Given the description of an element on the screen output the (x, y) to click on. 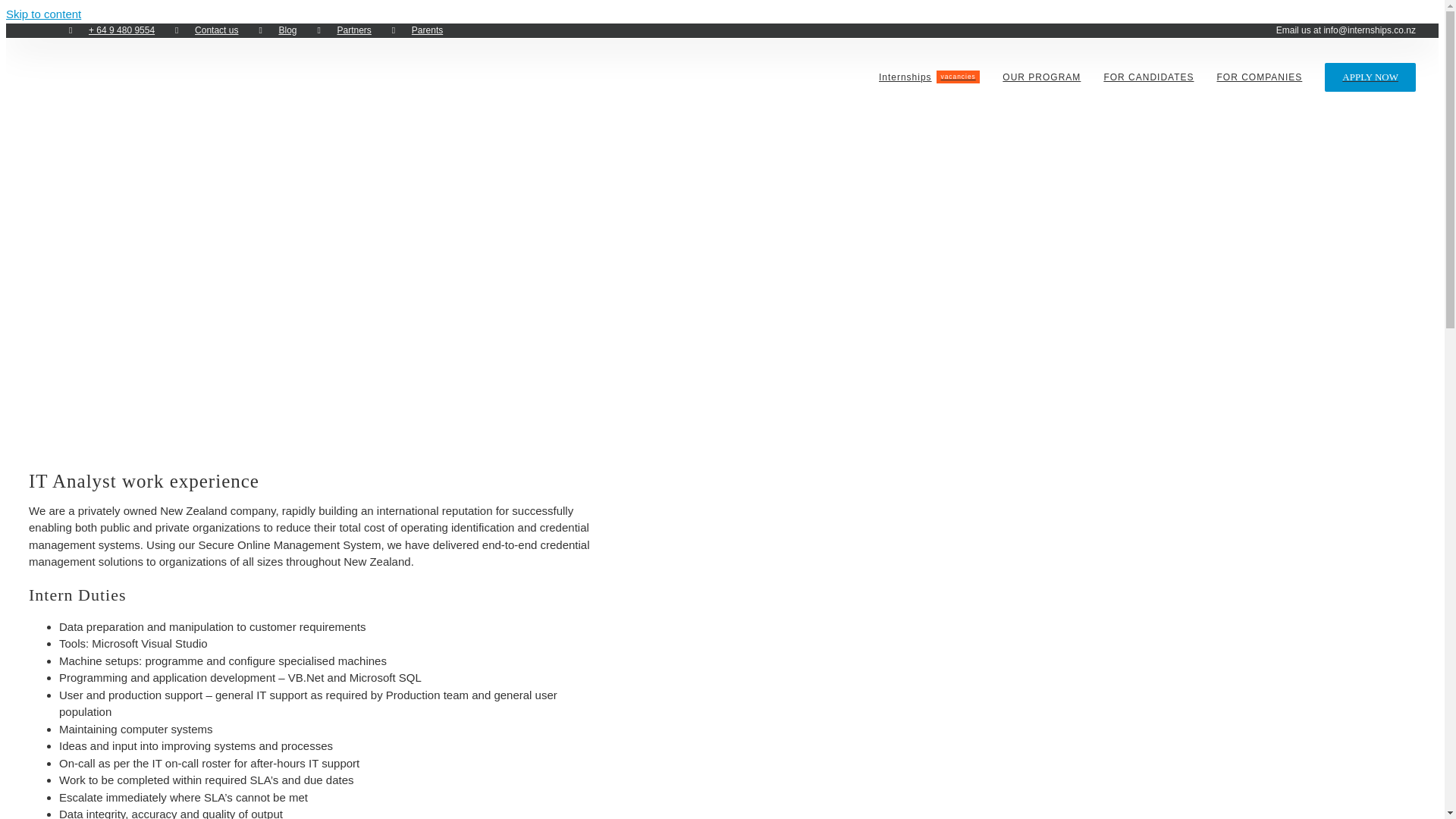
Skip to content (43, 13)
Contact us (206, 29)
Blog (276, 29)
FOR COMPANIES (1258, 75)
OUR PROGRAM (1041, 75)
FOR CANDIDATES (1148, 75)
APPLY NOW (929, 75)
Partners (1369, 75)
Parents (344, 29)
